Given the description of an element on the screen output the (x, y) to click on. 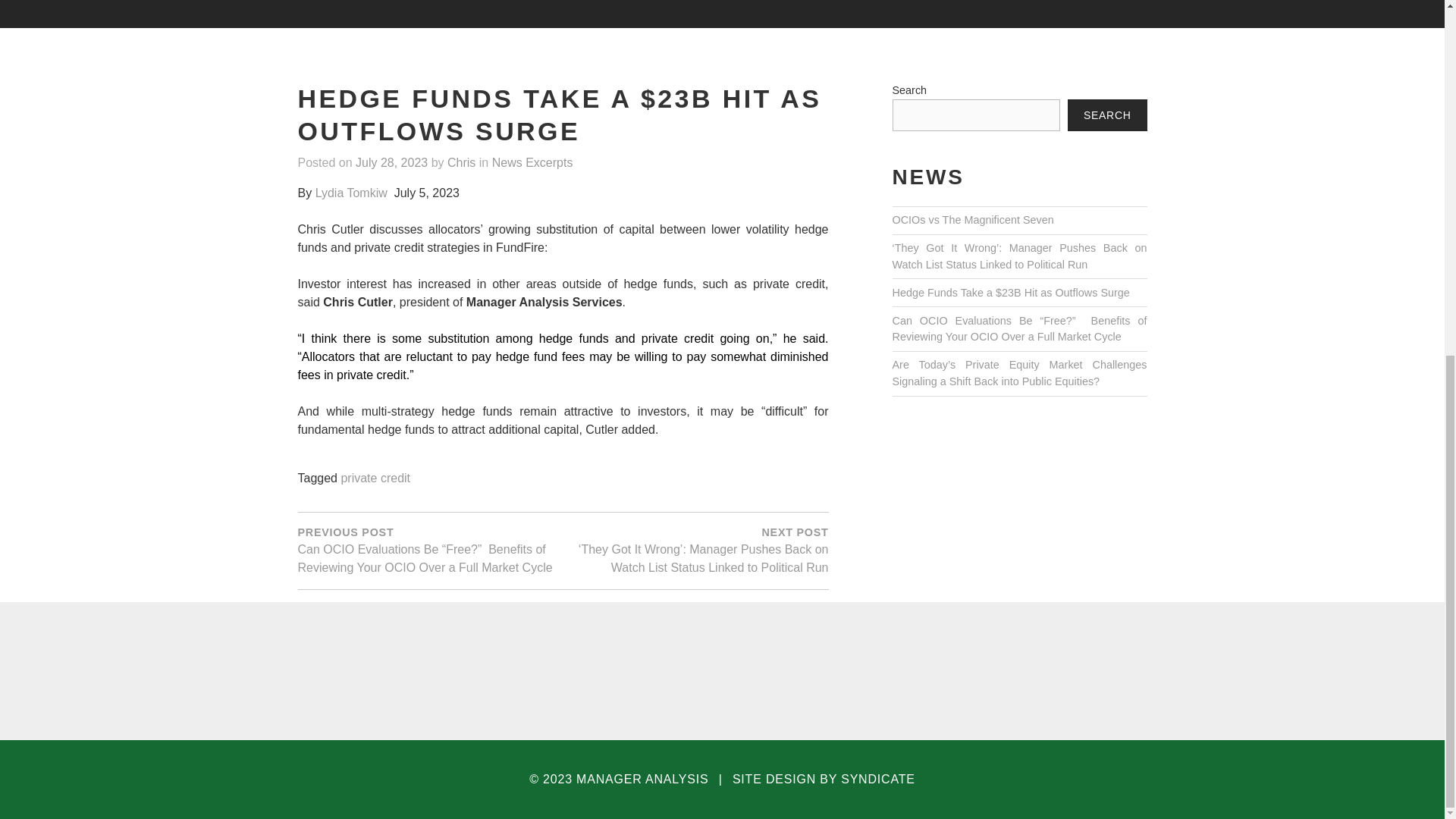
OCIOs vs The Magnificent Seven (971, 220)
Chris (461, 163)
SEARCH (1107, 115)
News Excerpts (532, 163)
SITE DESIGN BY SYNDICATE (823, 780)
Lydia Tomkiw (351, 193)
private credit (375, 478)
July 28, 2023 (391, 163)
